Given the description of an element on the screen output the (x, y) to click on. 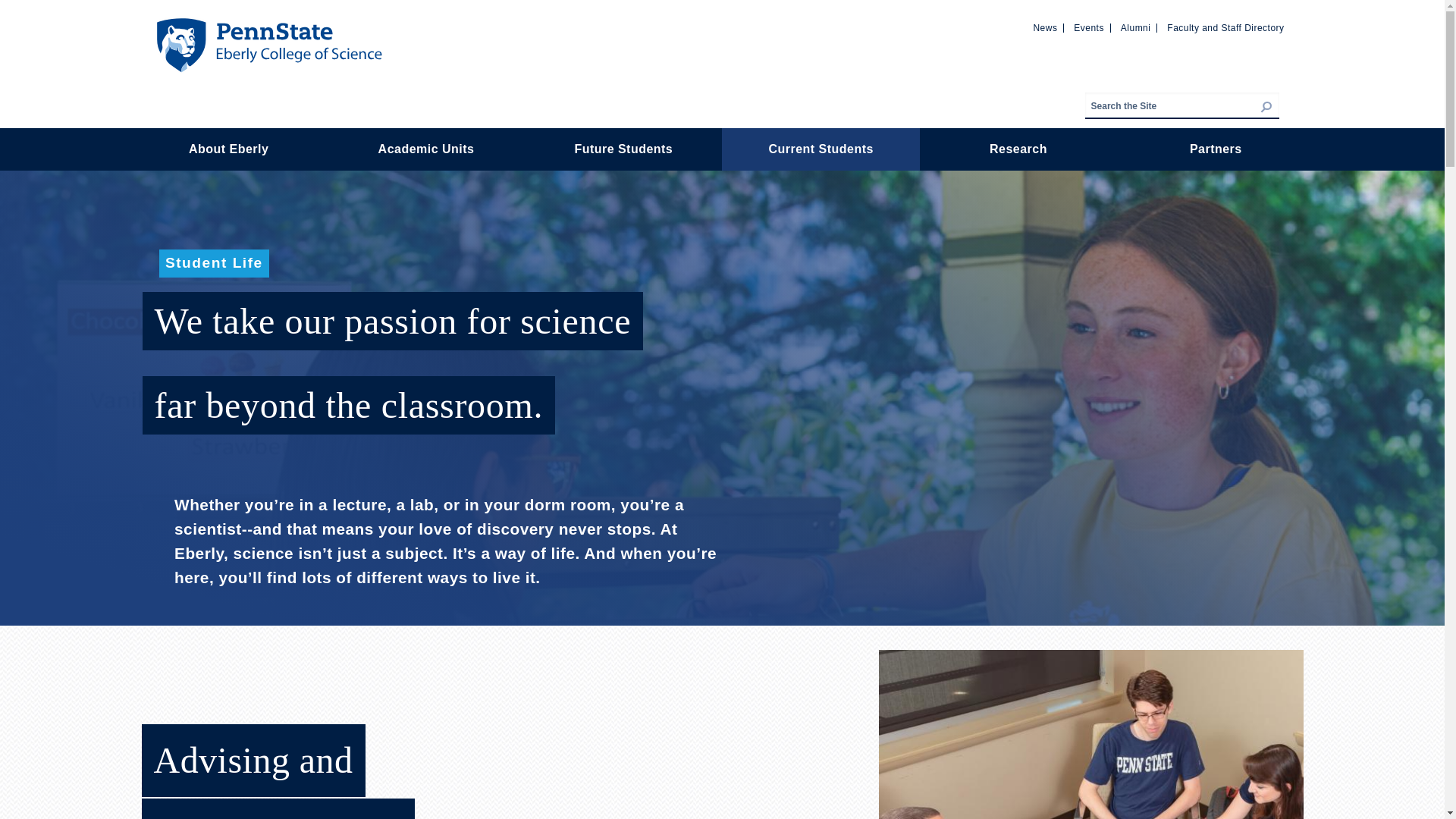
Home (267, 24)
Search (1278, 116)
